Given the description of an element on the screen output the (x, y) to click on. 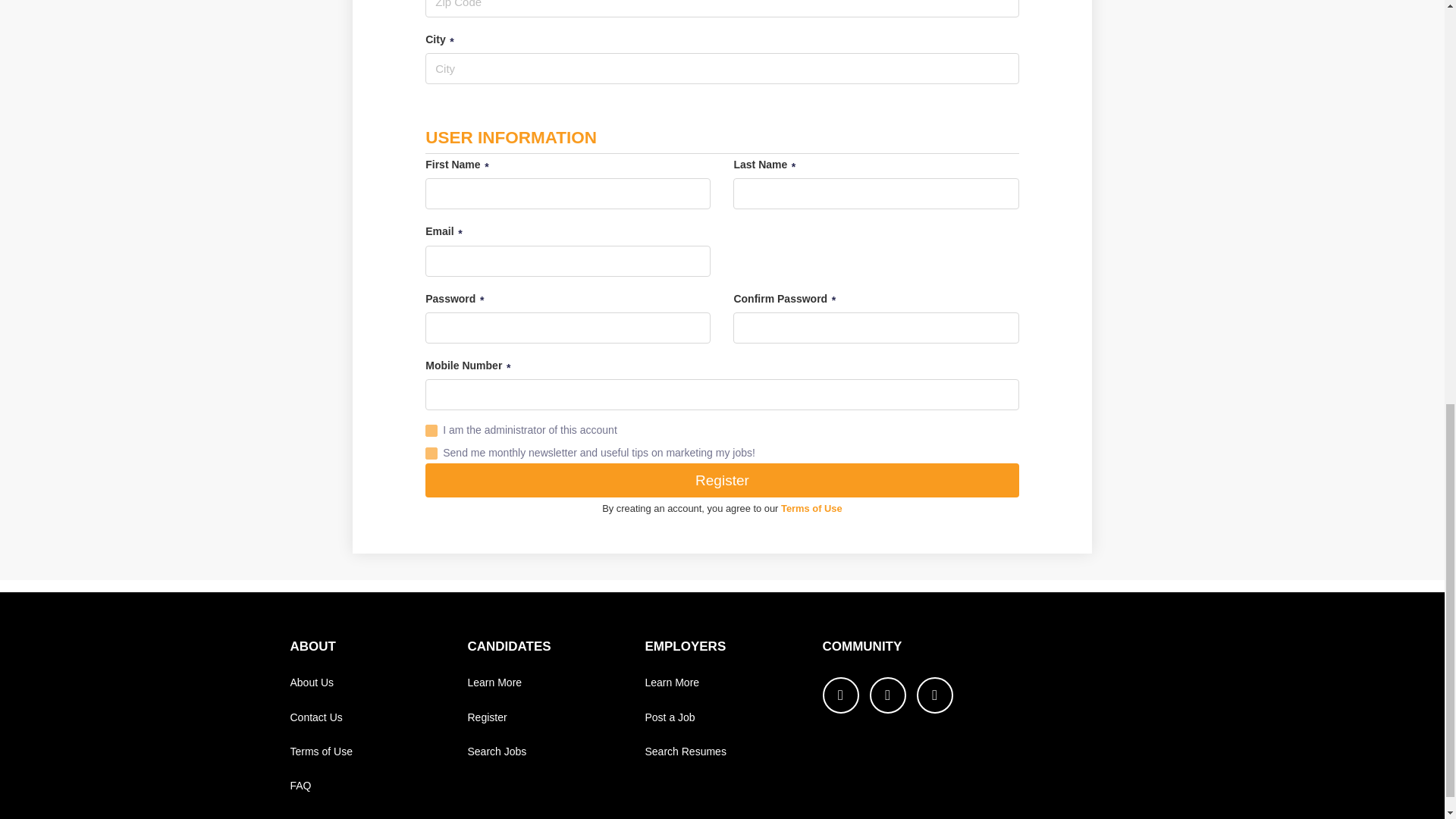
Register (486, 716)
Learn More (494, 682)
Search Jobs (496, 751)
Terms of Use (320, 751)
Learn More (671, 682)
Contact Us (315, 716)
Terms of Use (811, 508)
Register (721, 480)
Search Resumes (685, 751)
FAQ (300, 785)
About Us (311, 682)
Post a Job (669, 716)
